Given the description of an element on the screen output the (x, y) to click on. 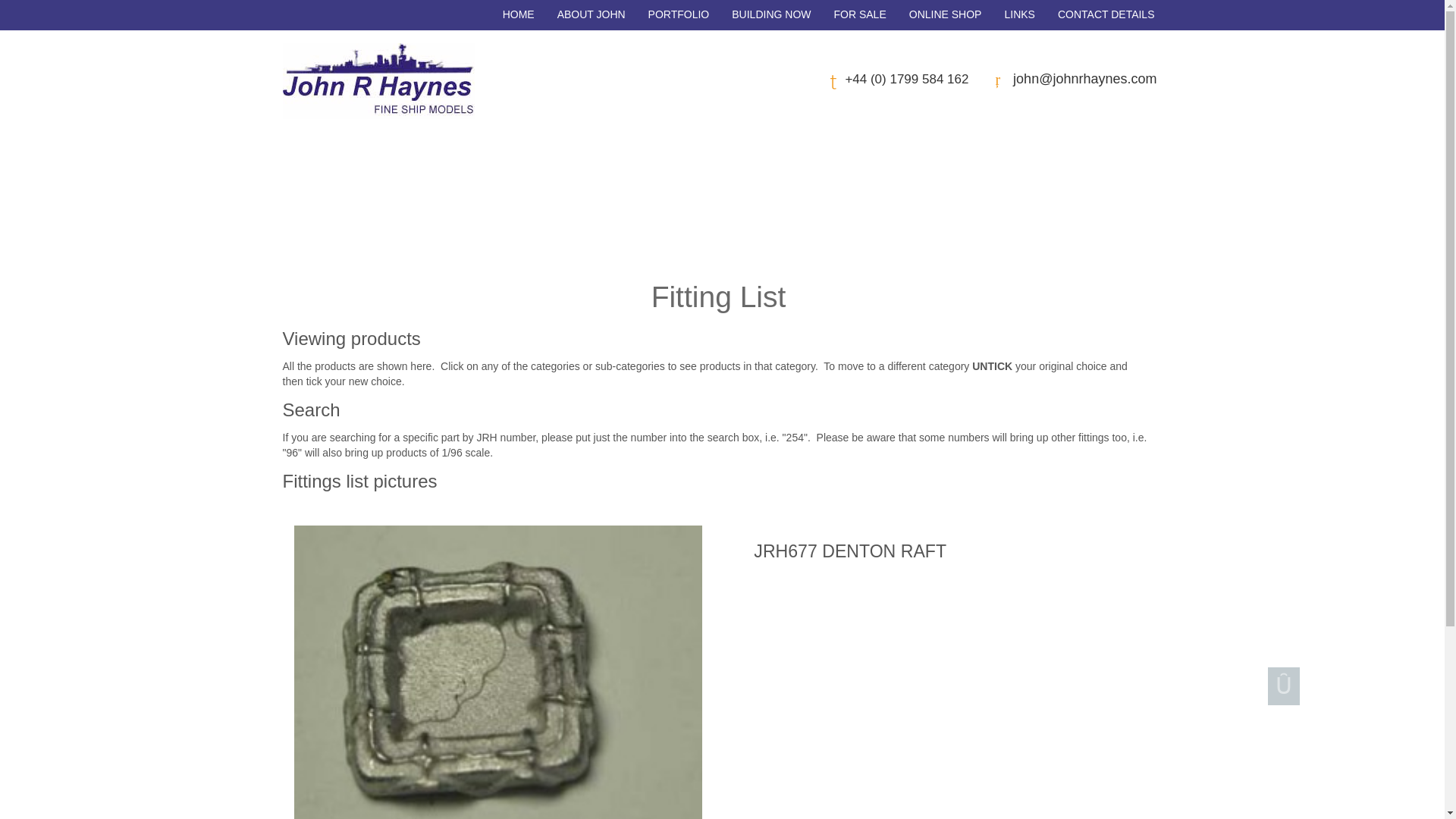
PORTFOLIO (678, 15)
ONLINE SHOP (945, 15)
BUILDING NOW (771, 15)
HOME (519, 15)
LINKS (1018, 15)
ABOUT JOHN (591, 15)
CONTACT DETAILS (1106, 15)
FOR SALE (859, 15)
